Given the description of an element on the screen output the (x, y) to click on. 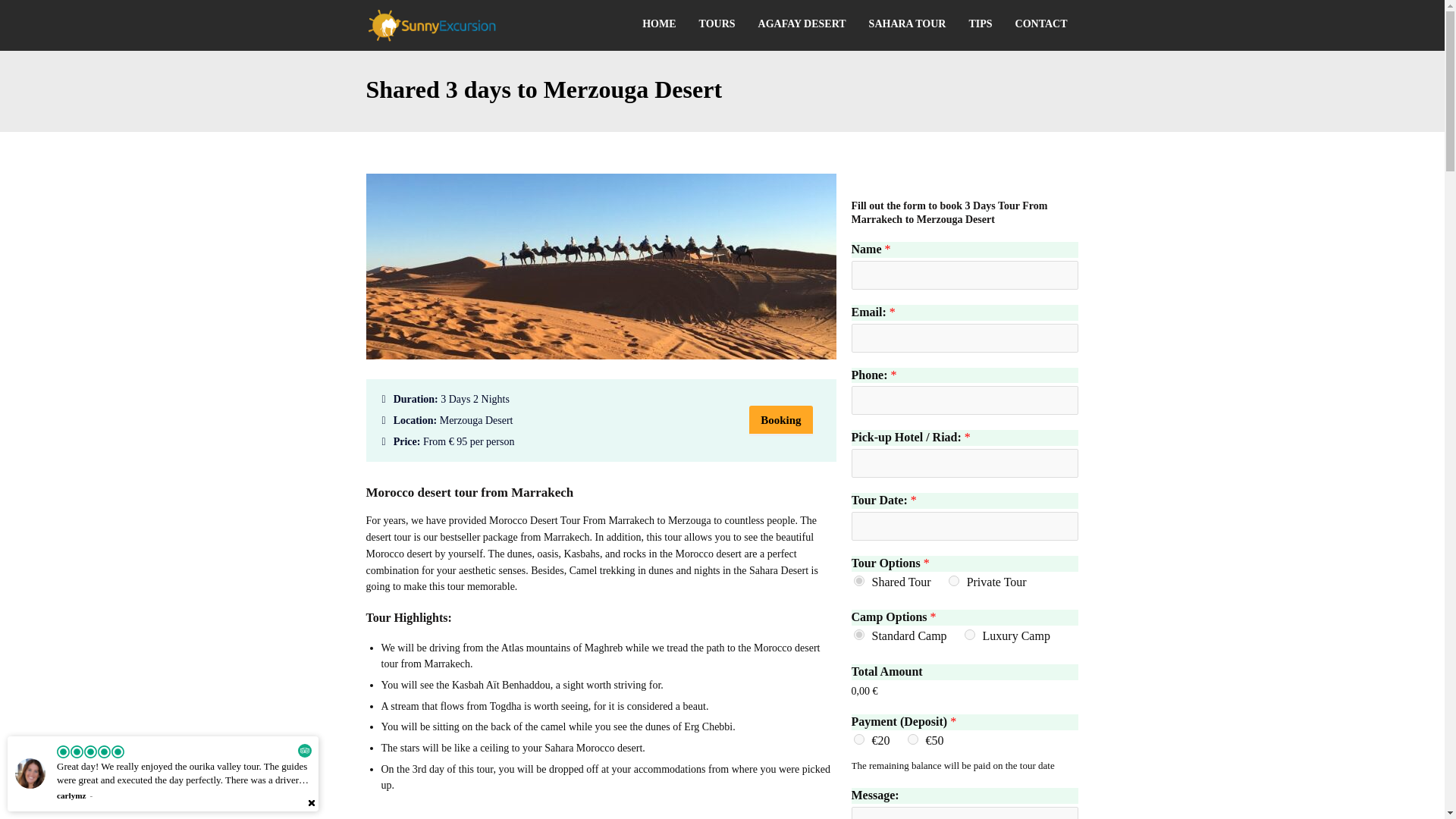
20 (954, 580)
SAHARA TOUR (907, 24)
CONTACT (1041, 24)
Shared 3 days to Merzouga Desert (600, 355)
AGAFAY DESERT (801, 24)
TOURS (716, 24)
5 (969, 634)
8 (858, 634)
Booking (780, 420)
HOME (658, 24)
